Given the description of an element on the screen output the (x, y) to click on. 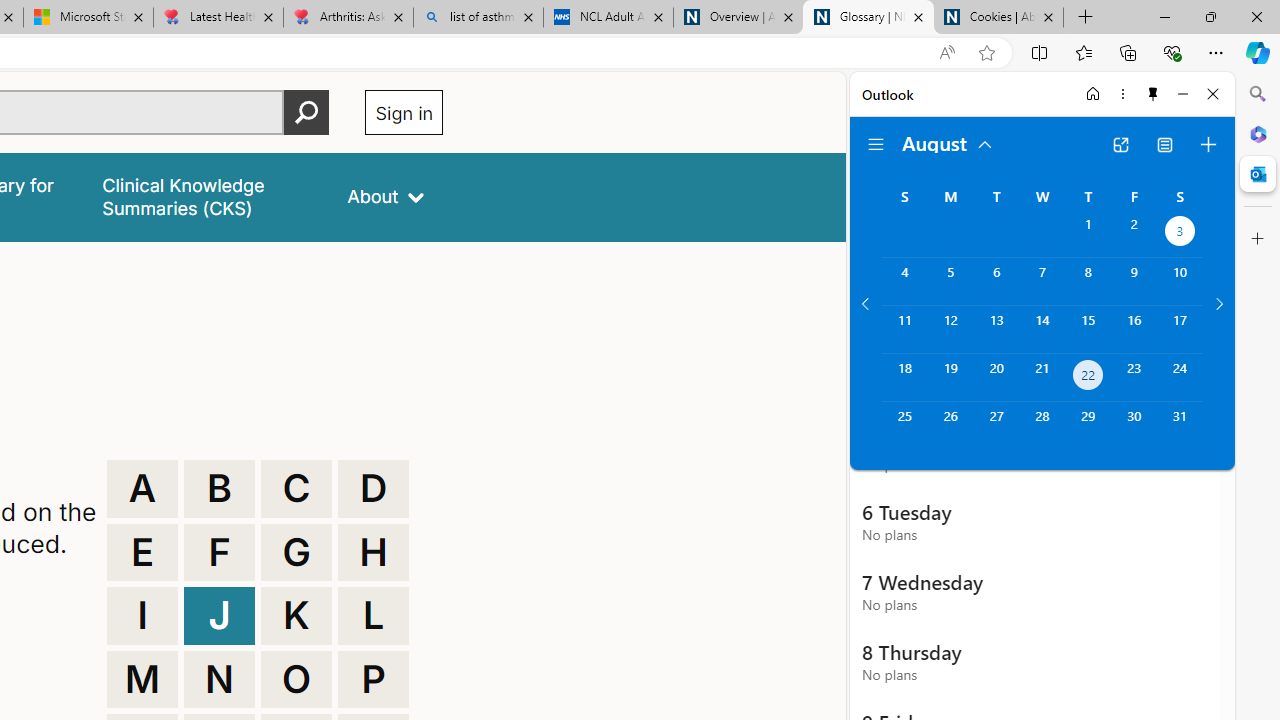
Tuesday, August 20, 2024.  (996, 377)
J (219, 615)
G (296, 551)
N (219, 679)
About (386, 196)
Monday, August 26, 2024.  (950, 425)
Thursday, August 15, 2024.  (1088, 329)
Perform search (307, 112)
A (142, 488)
View Switcher. Current view is Agenda view (1165, 144)
Friday, August 2, 2024.  (1134, 233)
